Given the description of an element on the screen output the (x, y) to click on. 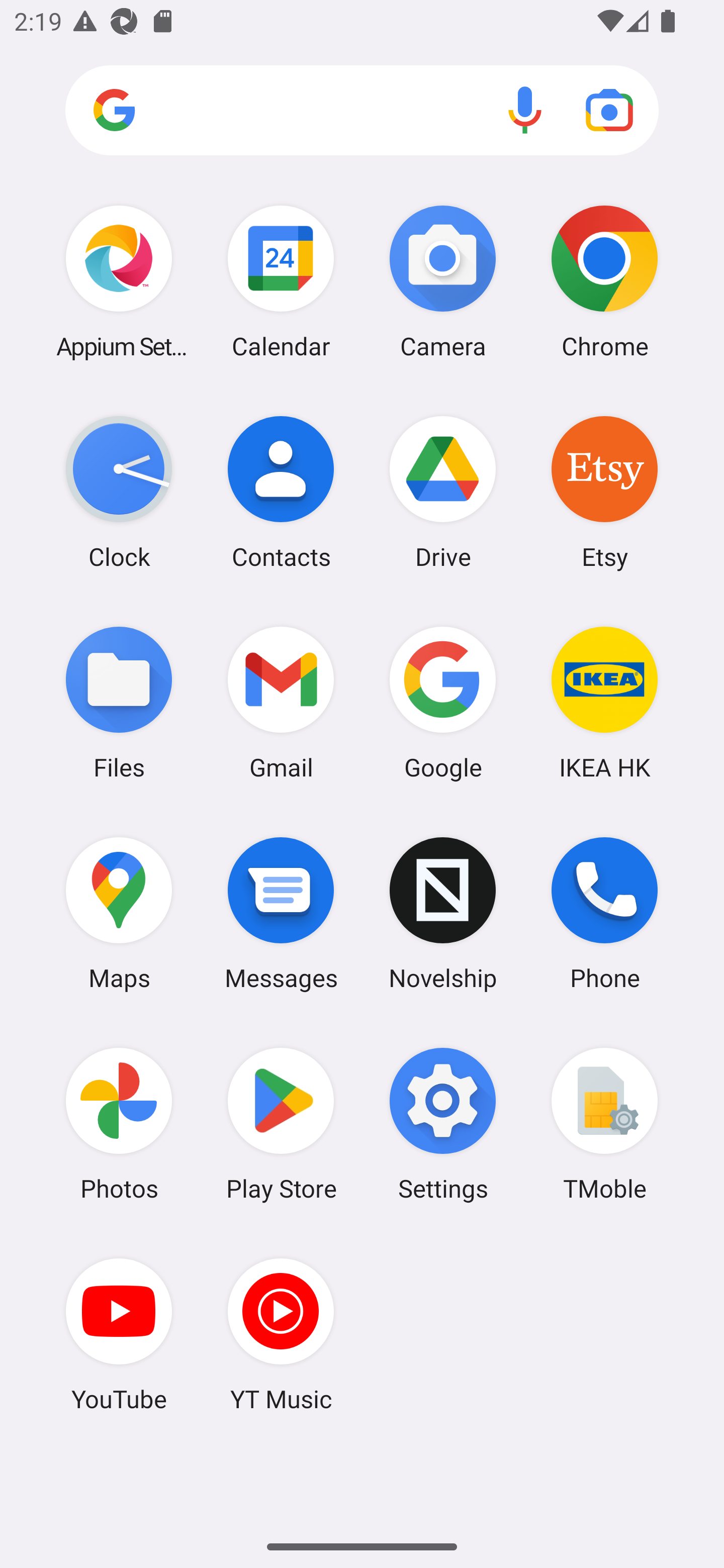
Search apps, web and more (361, 110)
Voice search (524, 109)
Google Lens (608, 109)
Appium Settings (118, 281)
Calendar (280, 281)
Camera (443, 281)
Chrome (604, 281)
Clock (118, 492)
Contacts (280, 492)
Drive (443, 492)
Etsy (604, 492)
Files (118, 702)
Gmail (280, 702)
Google (443, 702)
IKEA HK (604, 702)
Maps (118, 913)
Messages (280, 913)
Novelship (443, 913)
Phone (604, 913)
Photos (118, 1124)
Play Store (280, 1124)
Settings (443, 1124)
TMoble (604, 1124)
YouTube (118, 1334)
YT Music (280, 1334)
